Given the description of an element on the screen output the (x, y) to click on. 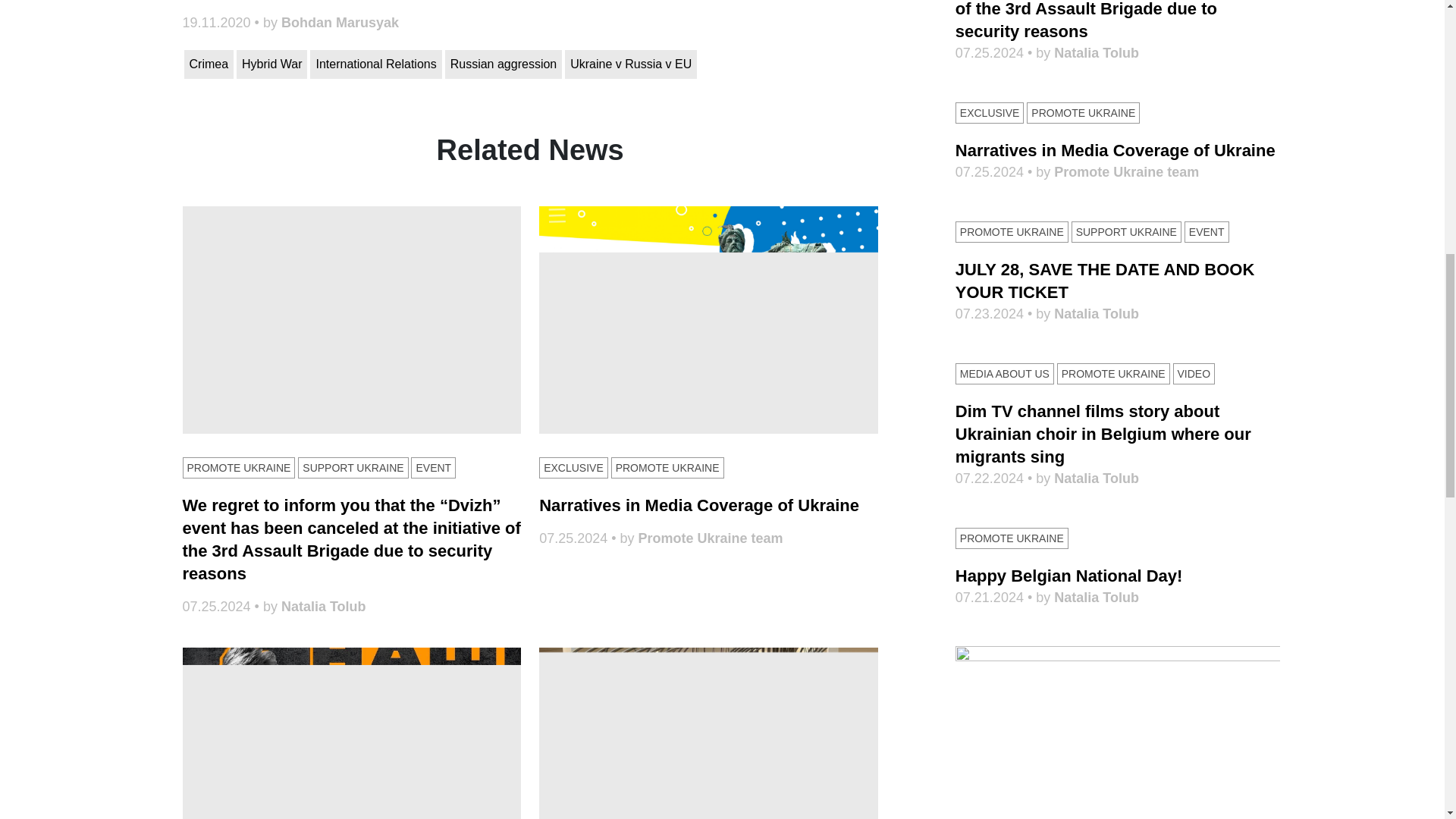
Narratives in Media Coverage of Ukraine (698, 505)
PROMOTE UKRAINE (667, 467)
JULY 28, SAVE THE DATE AND BOOK YOUR TICKET (351, 733)
Narratives in Media Coverage of Ukraine (707, 320)
Narratives in Media Coverage of Ukraine (698, 505)
International Relations (375, 63)
PROMOTE UKRAINE (238, 467)
EXCLUSIVE (573, 467)
Russian aggression (503, 63)
Ukraine v Russia v EU (630, 63)
